Given the description of an element on the screen output the (x, y) to click on. 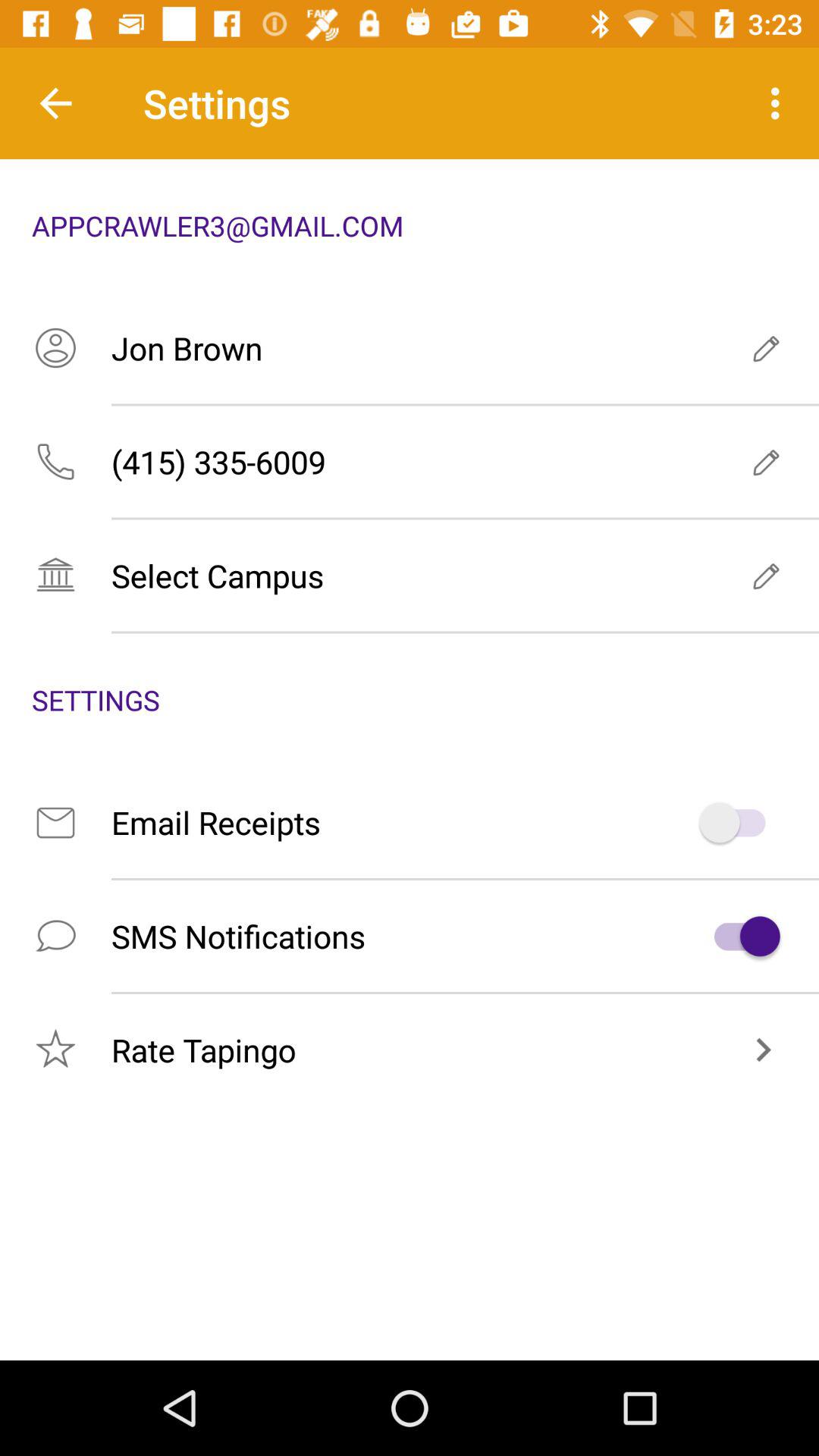
turn off item to the left of the settings item (55, 103)
